Given the description of an element on the screen output the (x, y) to click on. 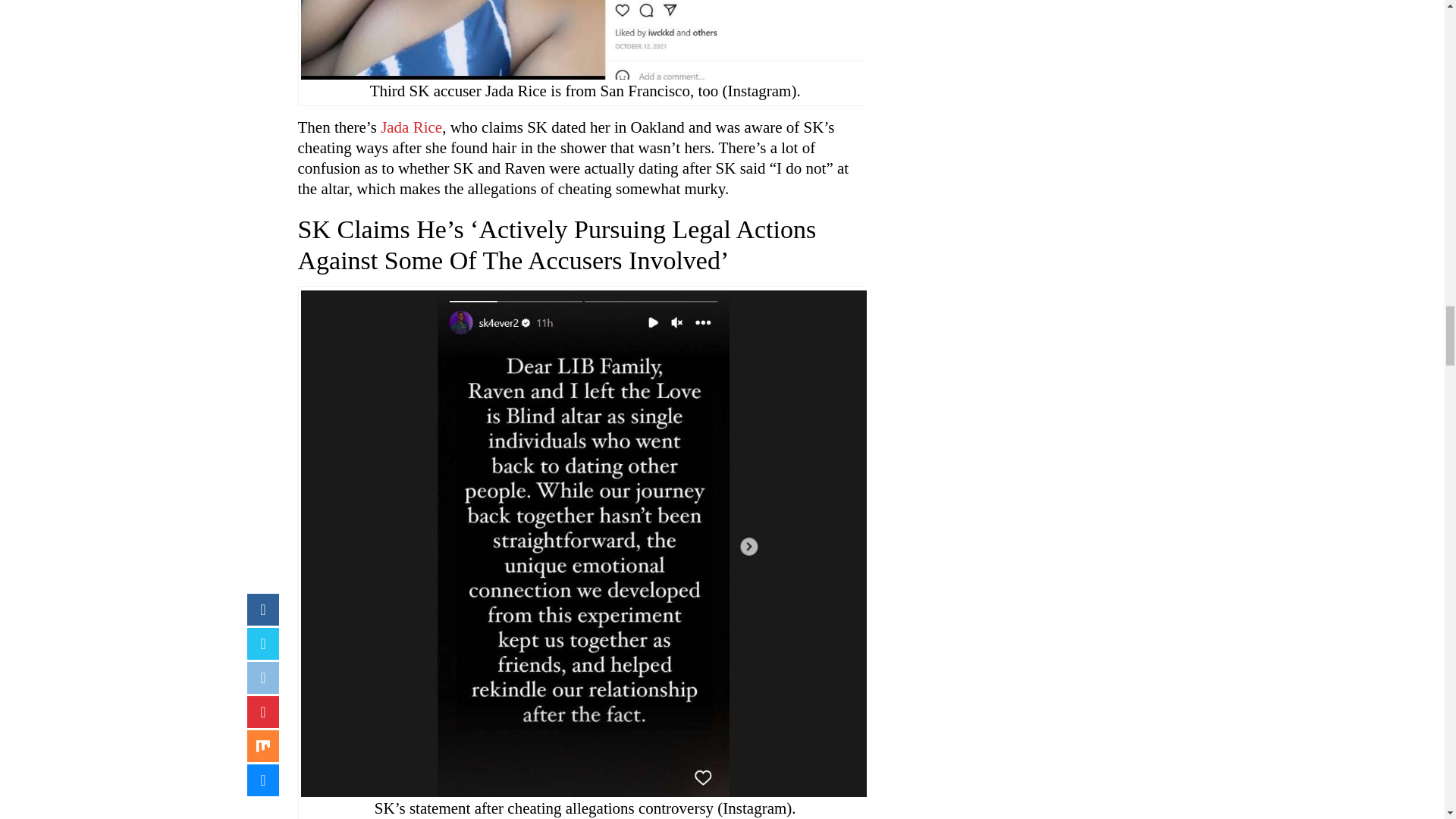
Jada Rice (411, 126)
